Given the description of an element on the screen output the (x, y) to click on. 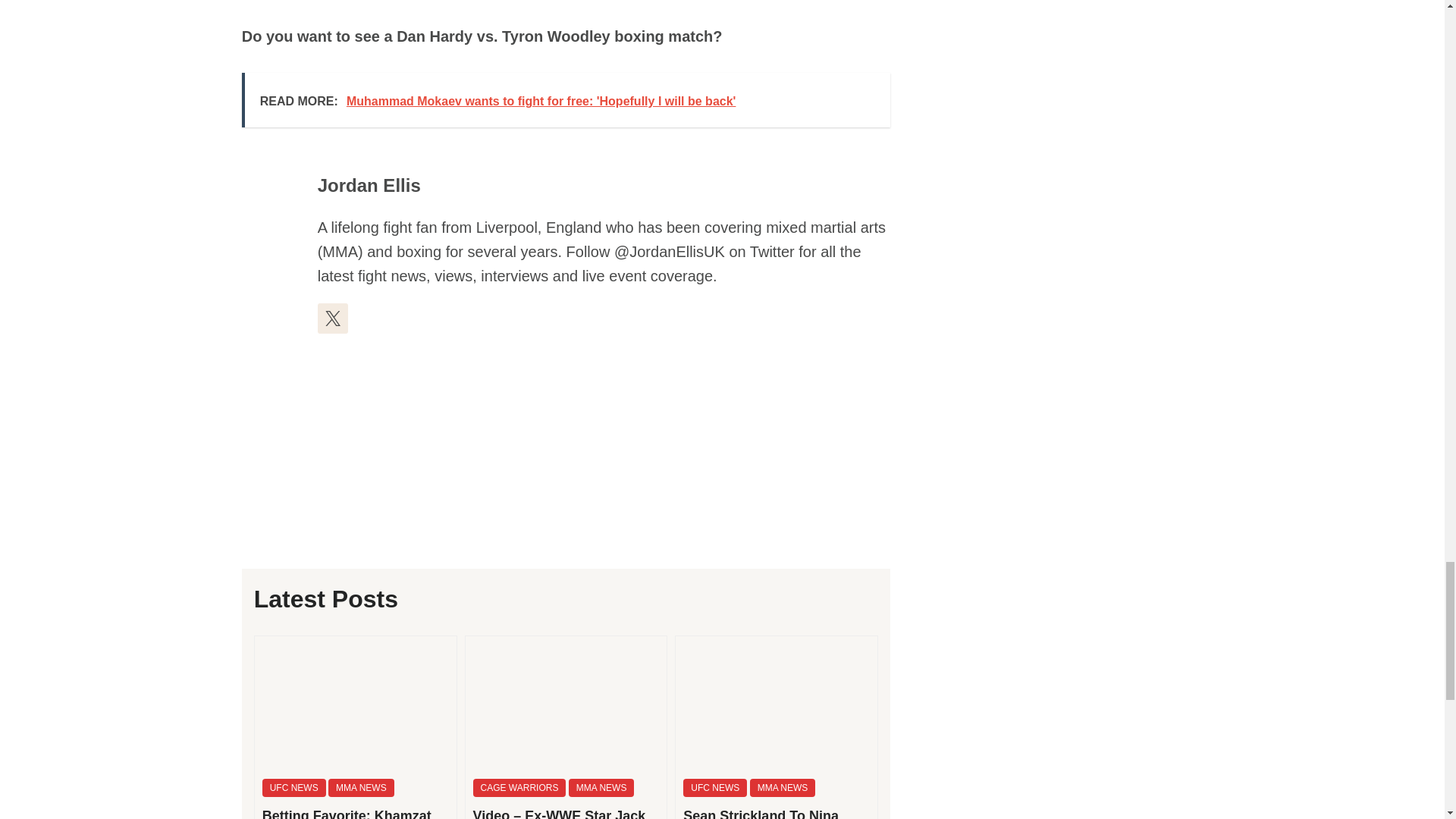
Betting Favorite: Khamzat Chimaev Pulls out of UFC 308 2 (355, 703)
Posts by Jordan Ellis (368, 185)
Follow Jordan Ellis on X formerly Twitter (332, 318)
